Given the description of an element on the screen output the (x, y) to click on. 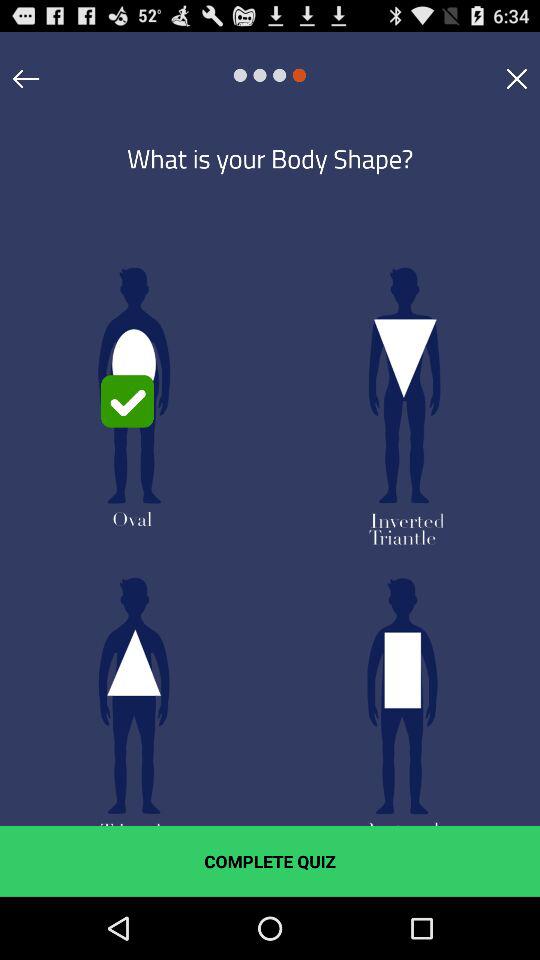
press the icon above the what is your icon (26, 78)
